Given the description of an element on the screen output the (x, y) to click on. 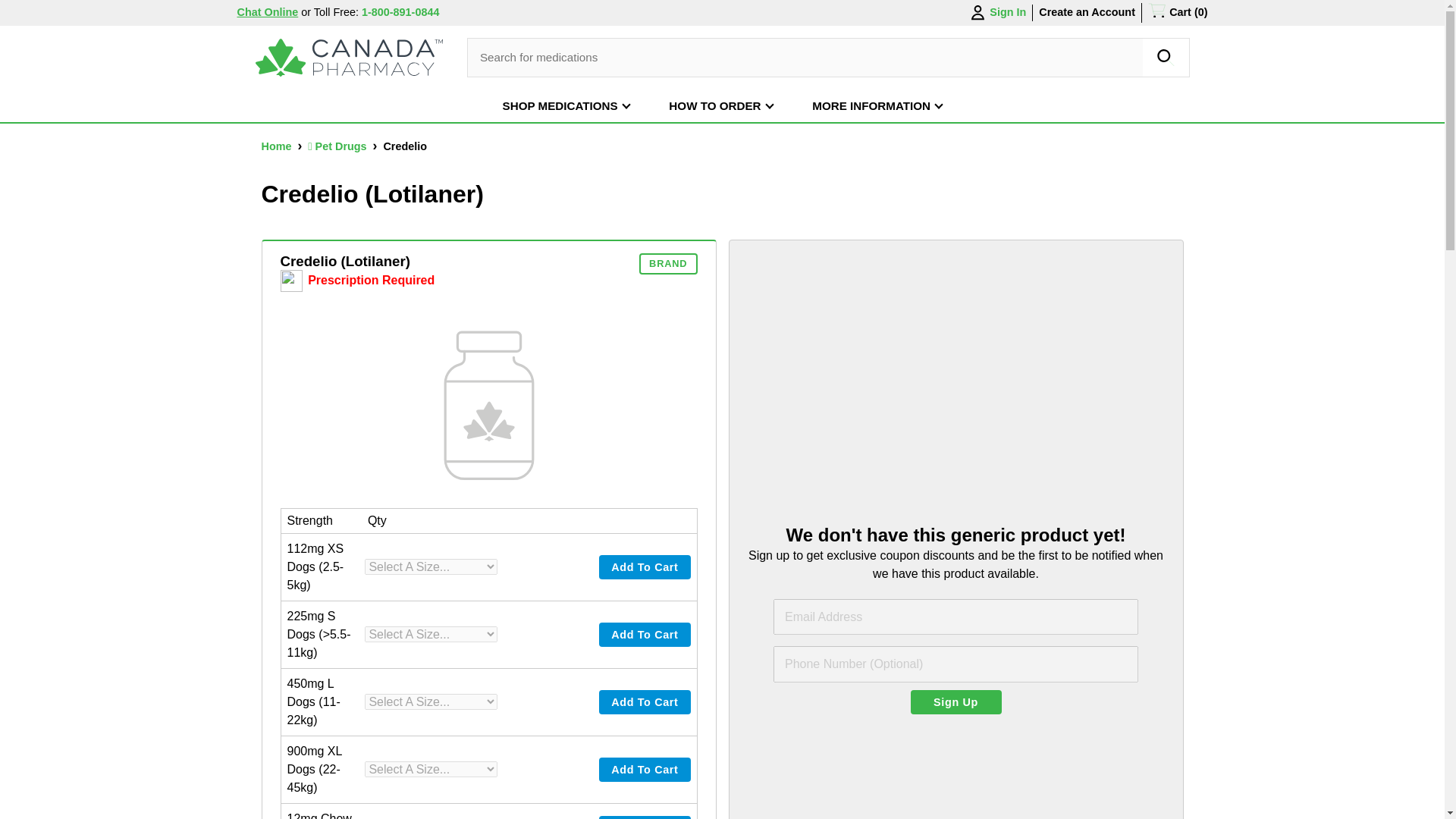
Add To Cart (644, 702)
Toll Free: 1-800-891-0844 (376, 11)
Add To Cart (644, 634)
Add To Cart (644, 634)
Home (277, 146)
Sign Up (955, 702)
Sign In (997, 12)
Add To Cart (644, 702)
Create an Account (1087, 11)
Add To Cart (644, 769)
